Given the description of an element on the screen output the (x, y) to click on. 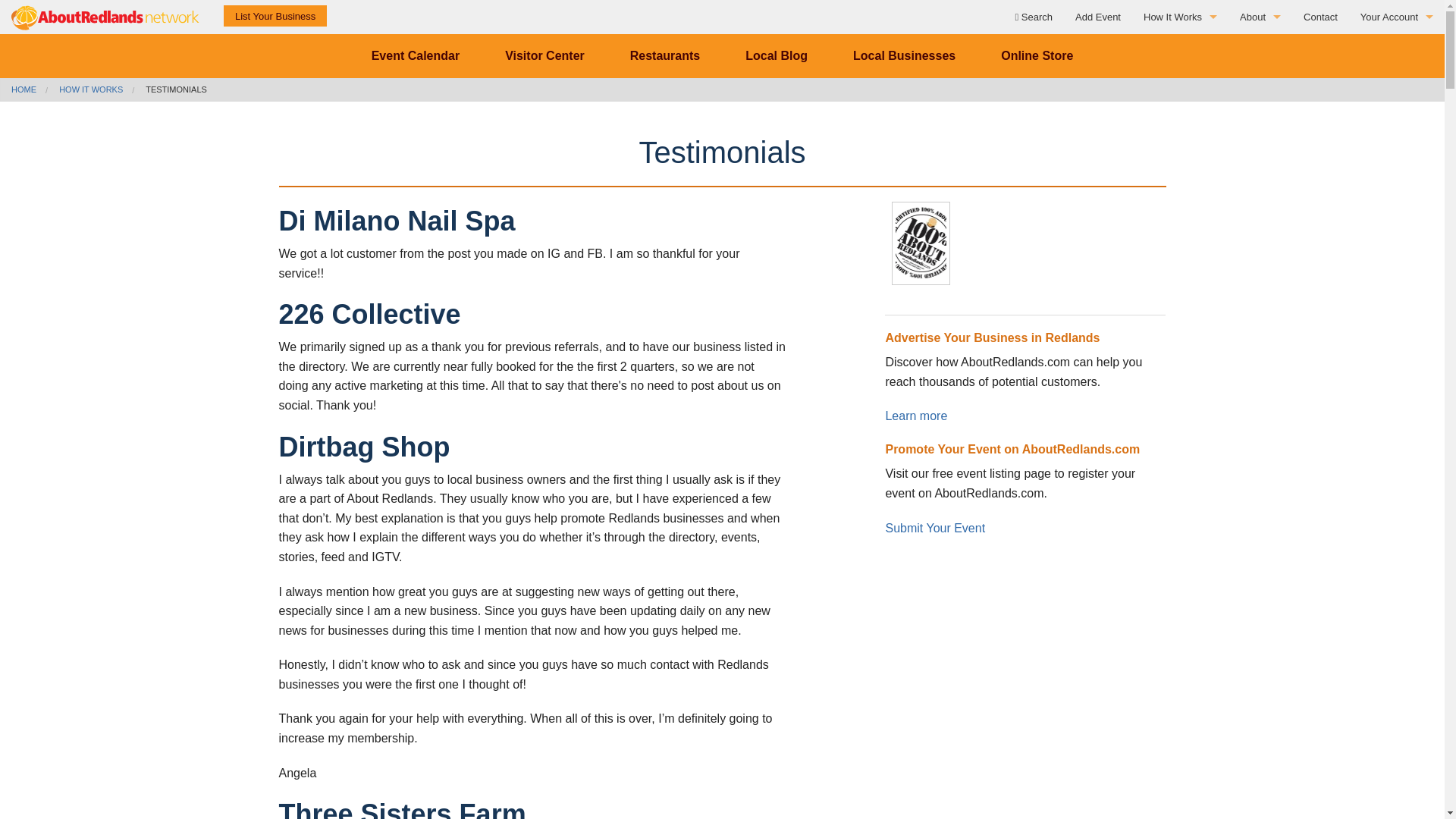
Search AboutRedlands.com (1033, 17)
Charitable Affiliations (1260, 84)
List your business on AboutRedlands.com (275, 15)
Contact (1320, 17)
List your event on AboutRedlands.com (1098, 17)
List Your Business (1180, 187)
About (1260, 17)
Social Media Submission Guidelines (1180, 153)
About (1260, 50)
AboutRedlands.com (106, 17)
List Your Business (1260, 119)
Member Resources (1180, 84)
List Your Business (275, 15)
How It Works (1180, 50)
Add Event (1098, 17)
